Given the description of an element on the screen output the (x, y) to click on. 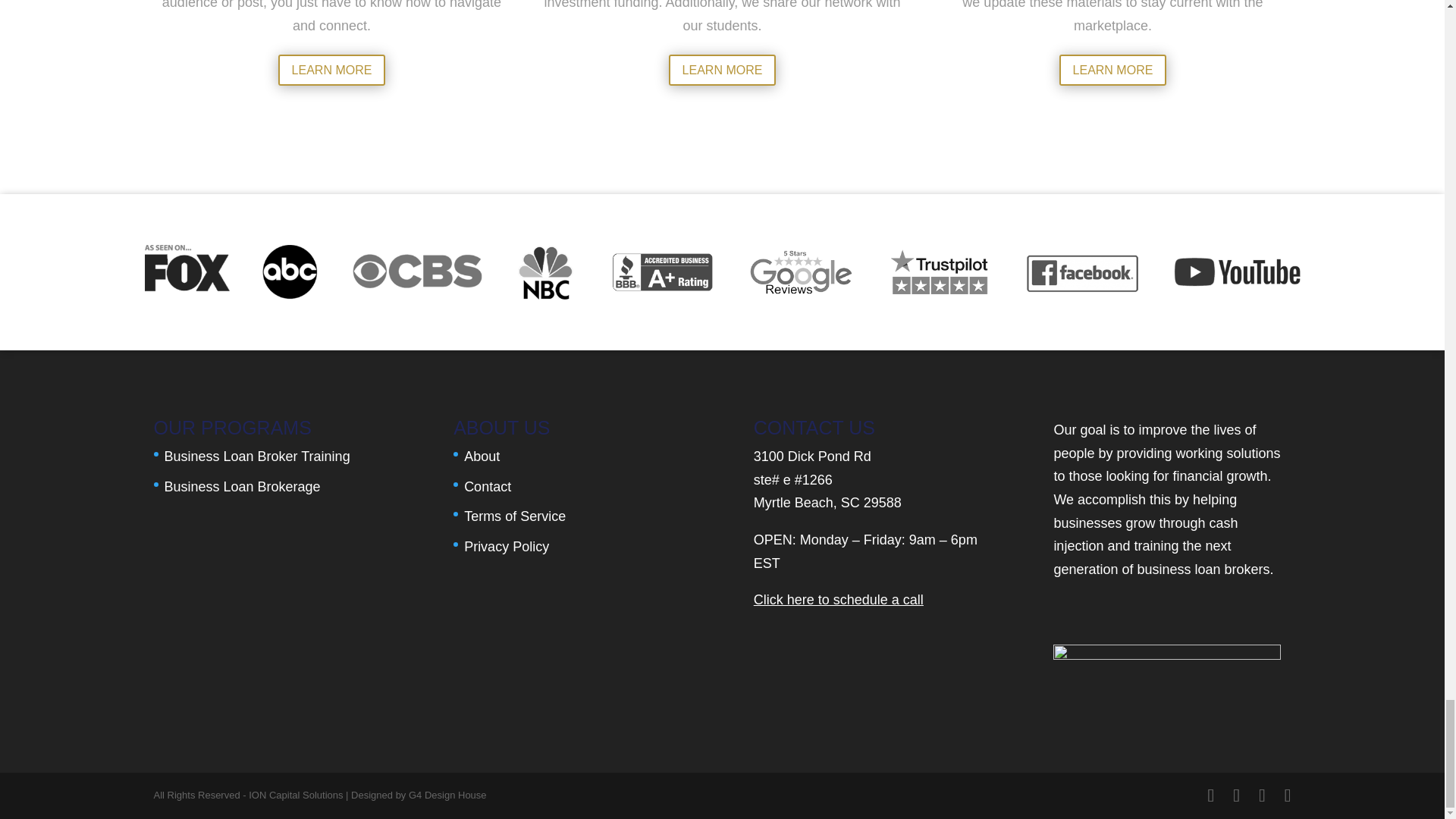
LEARN MORE (1113, 69)
Privacy Policy (506, 546)
Click here to schedule a call (838, 599)
Business Loan Brokerage (241, 486)
Business Loan Broker Training (256, 456)
Contact (487, 486)
About (481, 456)
LEARN MORE (331, 69)
Terms of Service (515, 516)
LEARN MORE (722, 69)
